Given the description of an element on the screen output the (x, y) to click on. 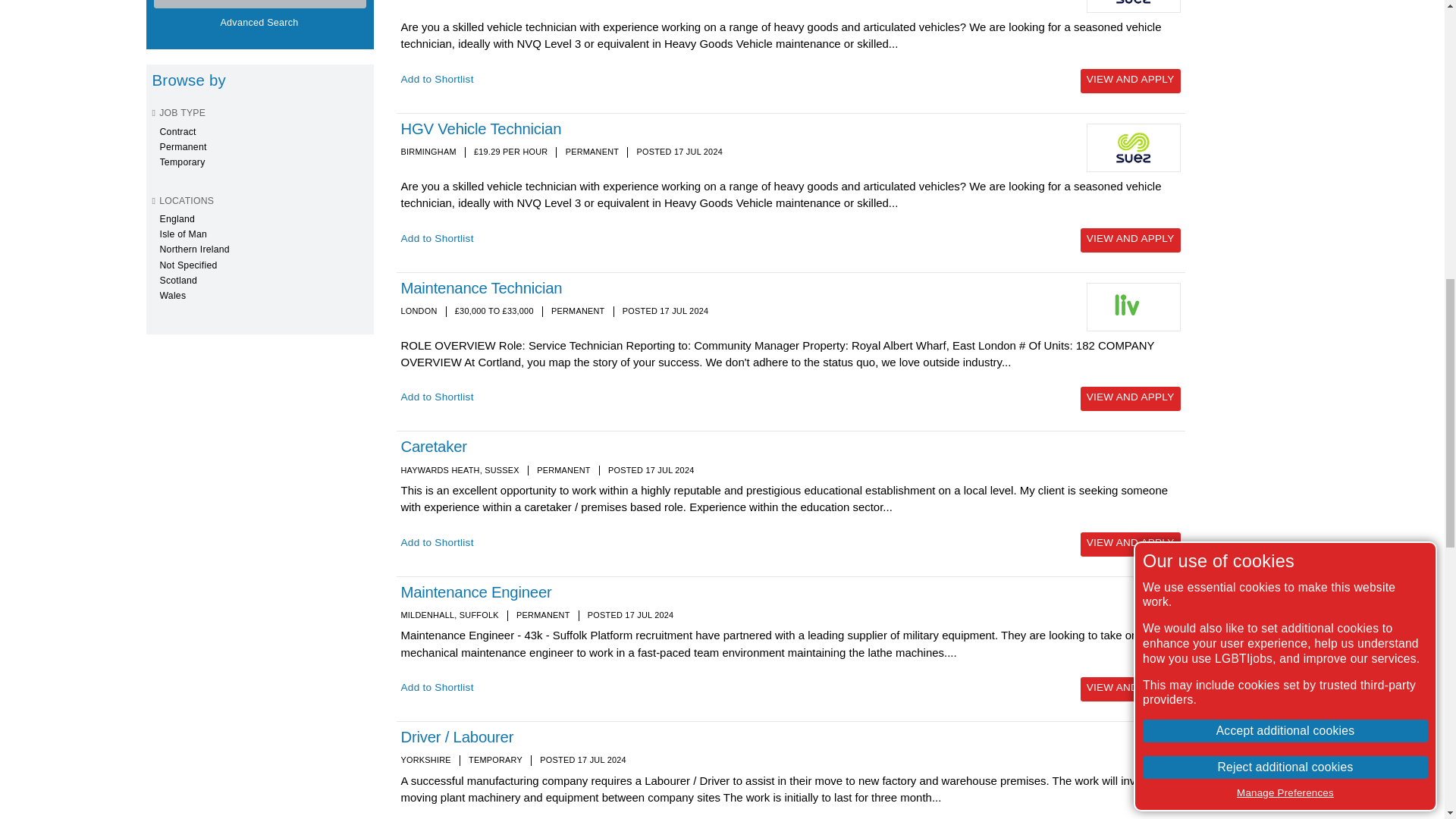
Isle of Man (182, 234)
Scotland (177, 280)
Contract (176, 131)
REFINE (258, 4)
Wales (172, 295)
Northern Ireland (193, 249)
Temporary (181, 162)
Isle of Man (182, 234)
Not Specified (187, 265)
England (176, 218)
Not Specified (187, 265)
Northern Ireland (193, 249)
Advanced Search (260, 23)
Permanent (182, 146)
Contract (176, 131)
